Given the description of an element on the screen output the (x, y) to click on. 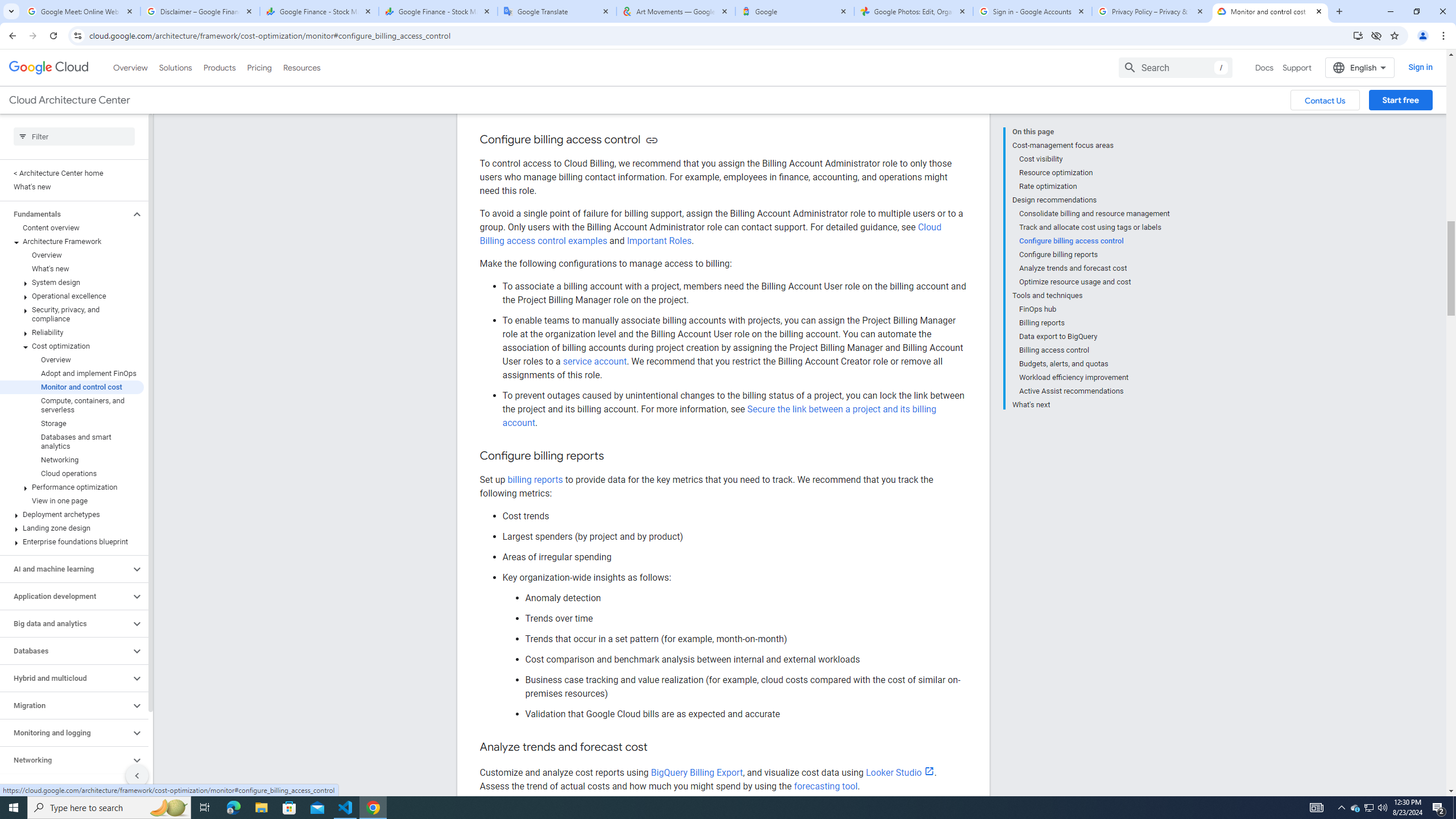
Reliability and disaster recovery (64, 787)
Track and allocate cost using tags or labels (1094, 227)
Performance optimization (72, 486)
Cloud operations (72, 473)
Big data and analytics (64, 623)
Support (1296, 67)
System design (72, 282)
Data export to BigQuery (1094, 336)
Databases and smart analytics (72, 441)
AI and machine learning (64, 568)
View in one page (72, 500)
Important Roles (658, 240)
Contact Us (1324, 100)
